Given the description of an element on the screen output the (x, y) to click on. 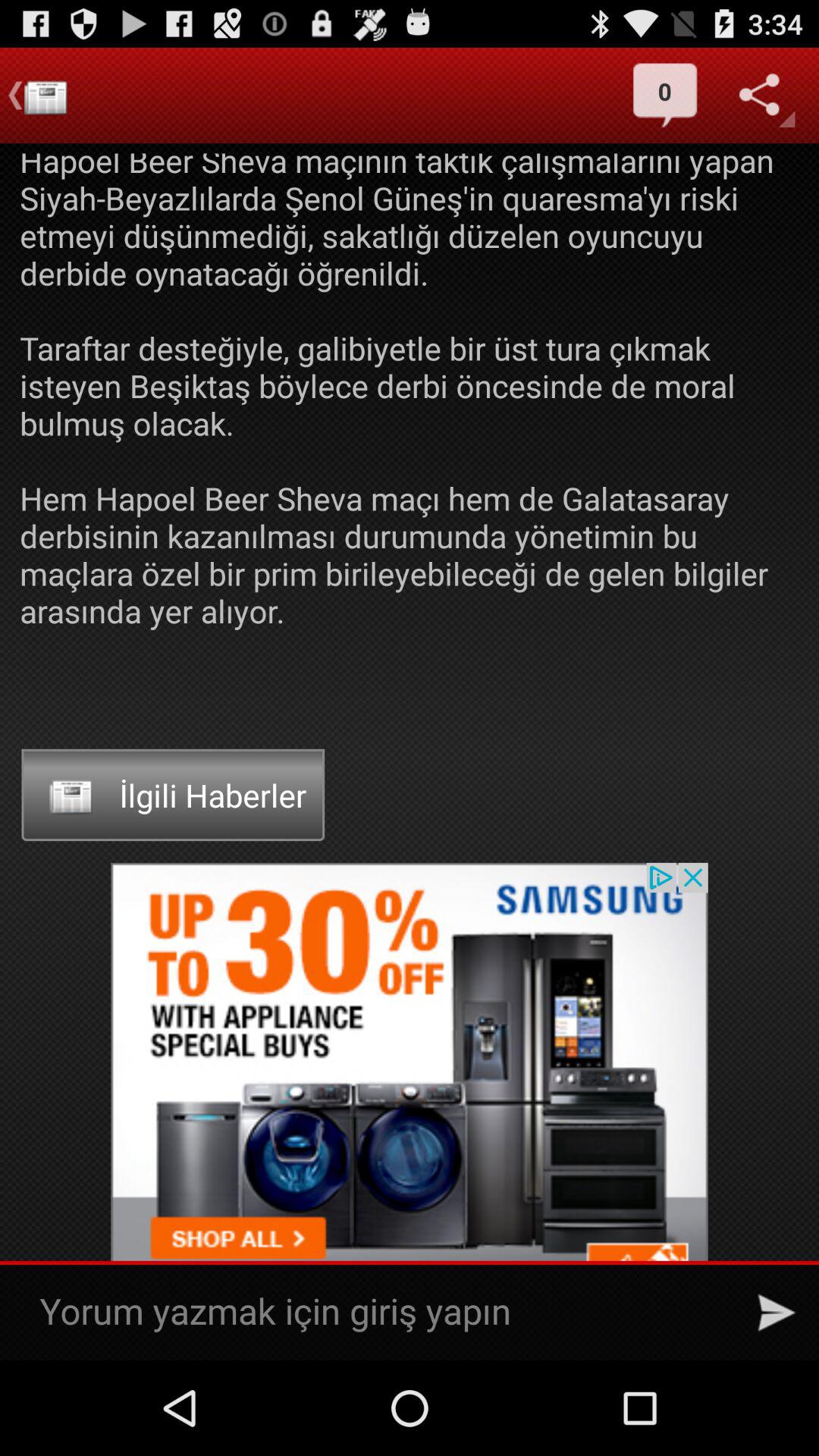
advertisement (409, 1111)
